Given the description of an element on the screen output the (x, y) to click on. 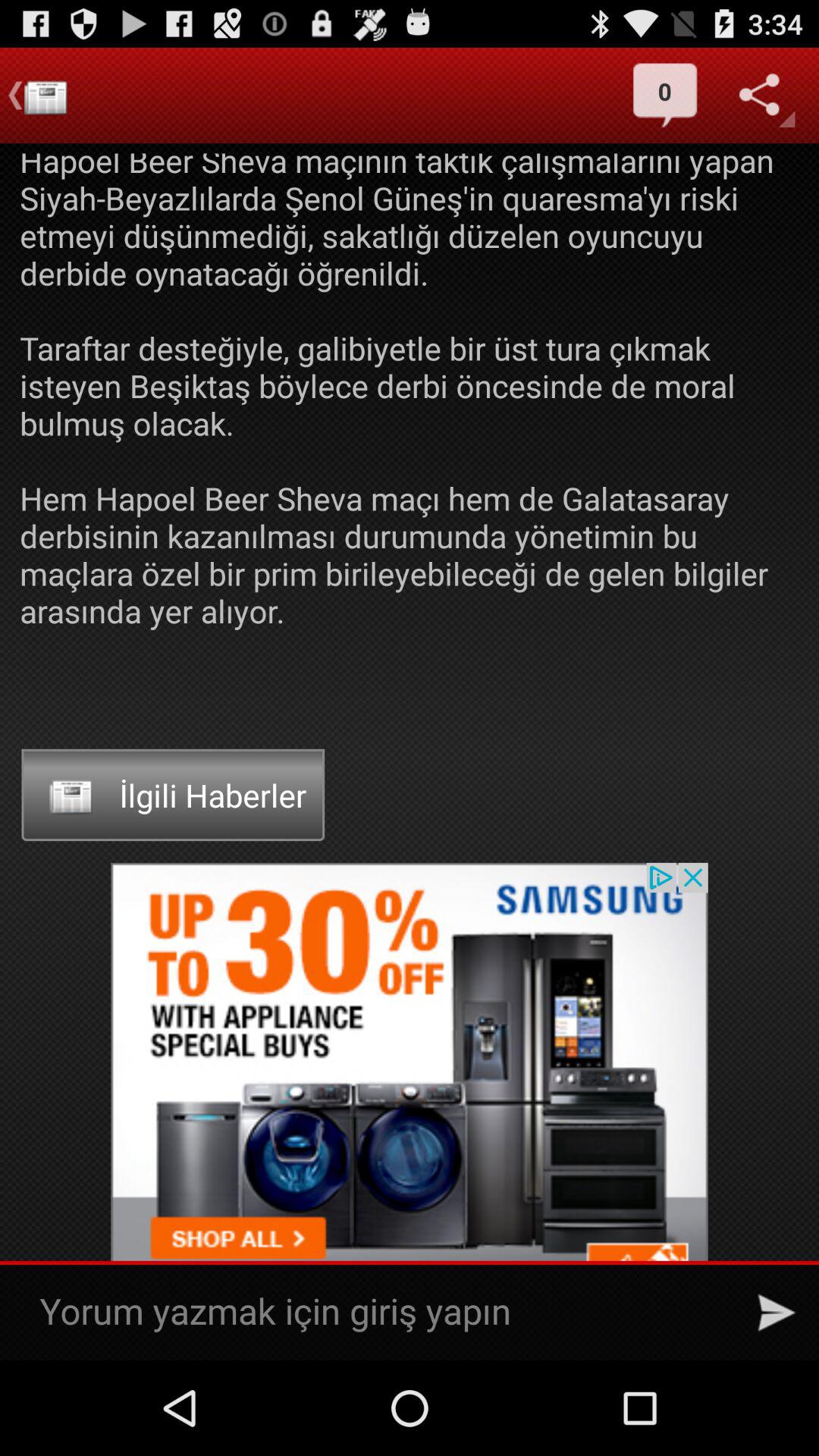
advertisement (409, 1111)
